Given the description of an element on the screen output the (x, y) to click on. 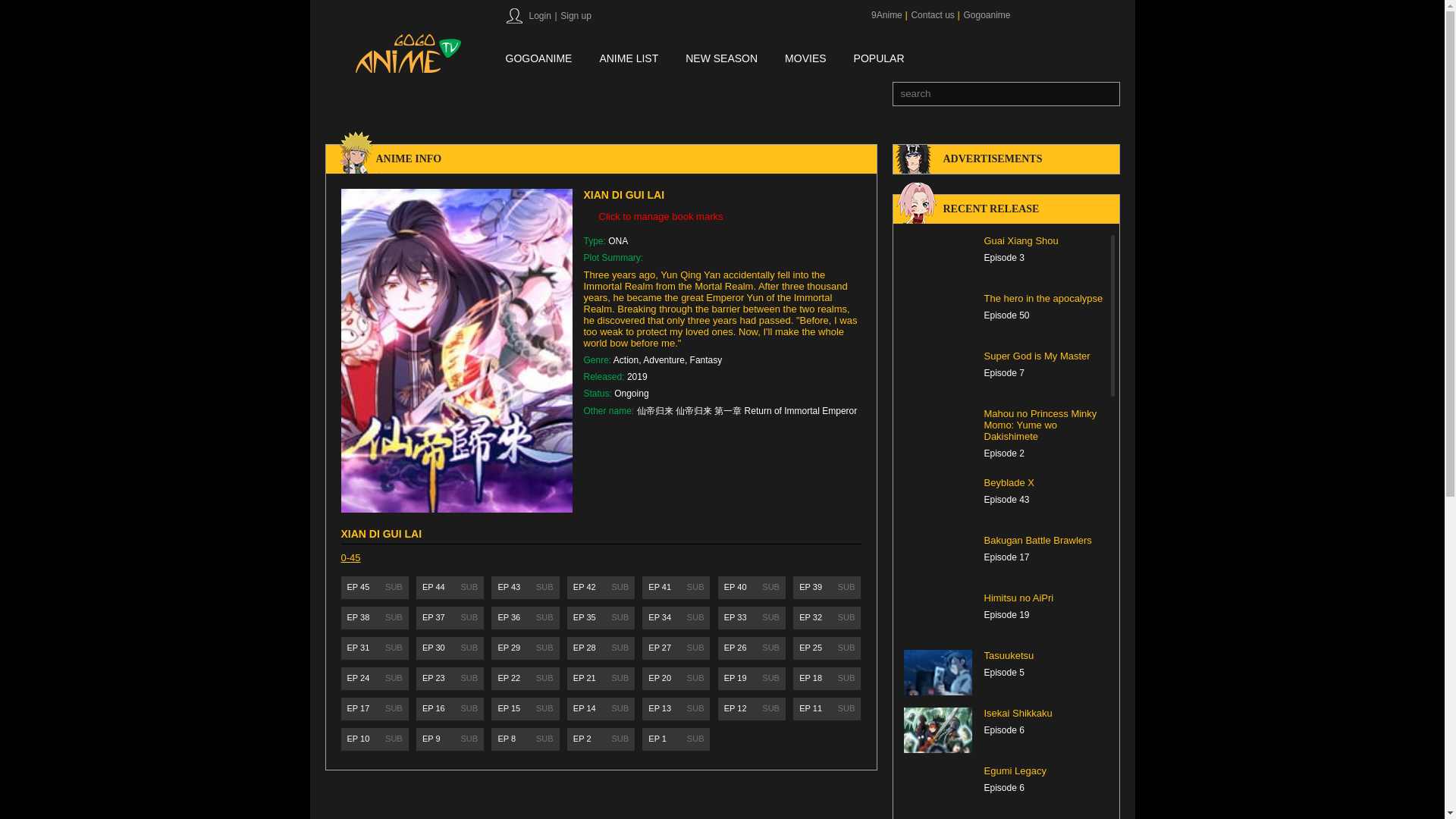
POPULAR (878, 59)
Popular (878, 59)
ANIME LIST (628, 59)
Login (538, 15)
Sign up (575, 15)
Anime list (628, 59)
Gogoanime (986, 14)
gogoanime (538, 59)
NEW SEASON (721, 59)
New season (721, 59)
